Given the description of an element on the screen output the (x, y) to click on. 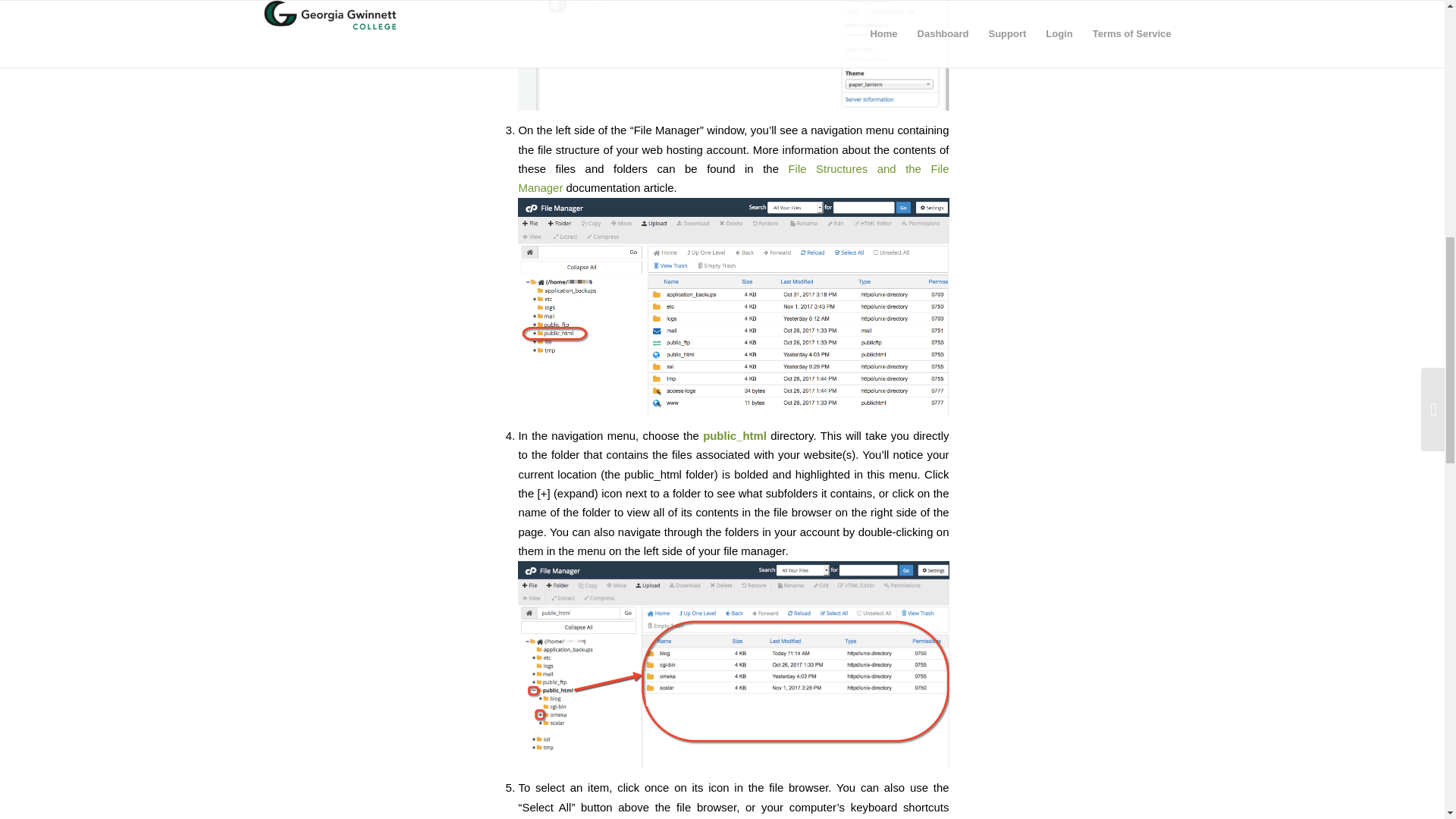
File Structures and the File Manager (733, 178)
